Given the description of an element on the screen output the (x, y) to click on. 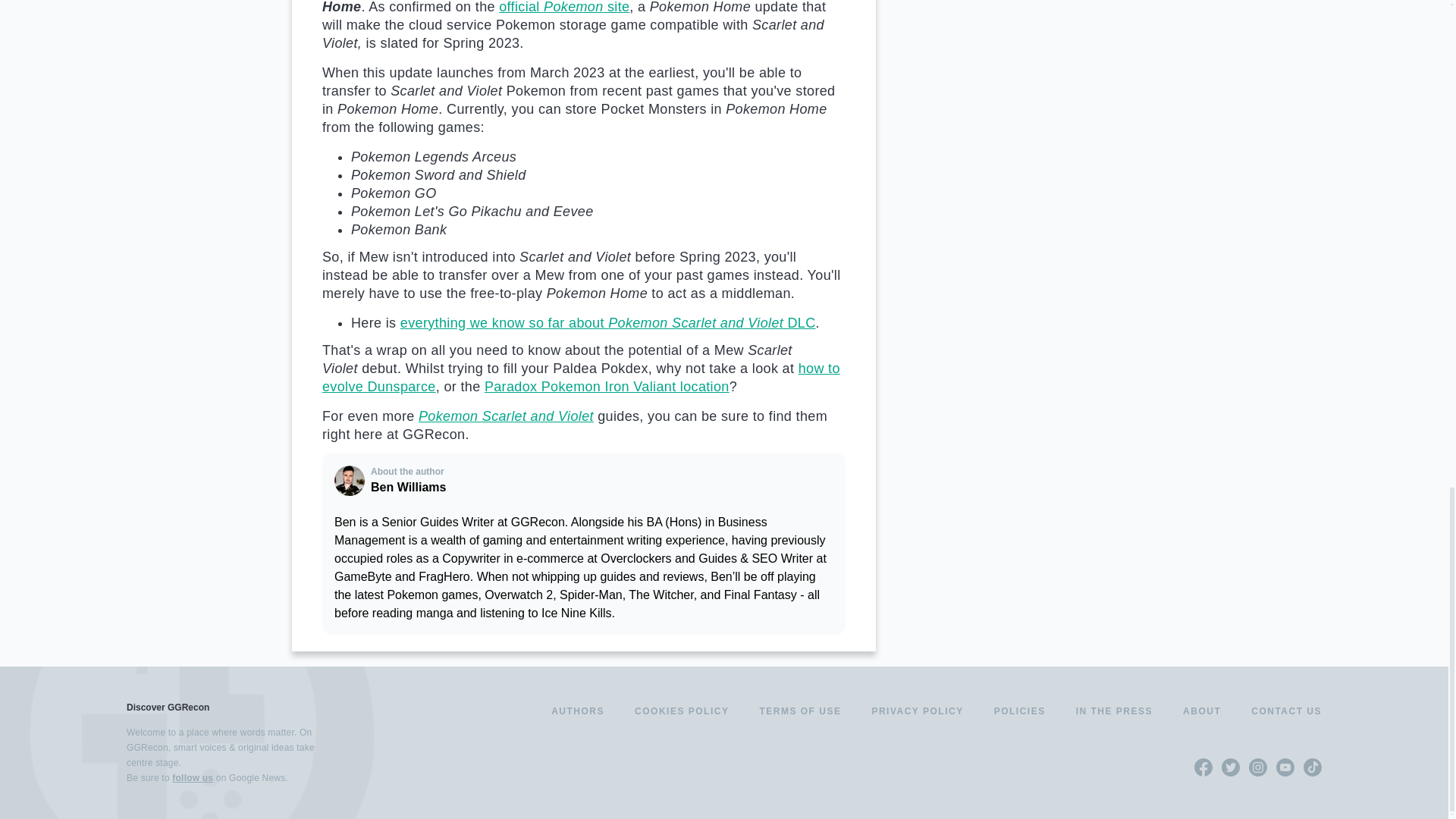
Iron Valiant Location In Pokemon Scarlet And Violet (606, 386)
facebookLink (1202, 767)
twitterLink (1230, 767)
How To Evolve Dunsparce In Pokemon Scarlet And Violet (580, 377)
Ben Williams (349, 481)
